Given the description of an element on the screen output the (x, y) to click on. 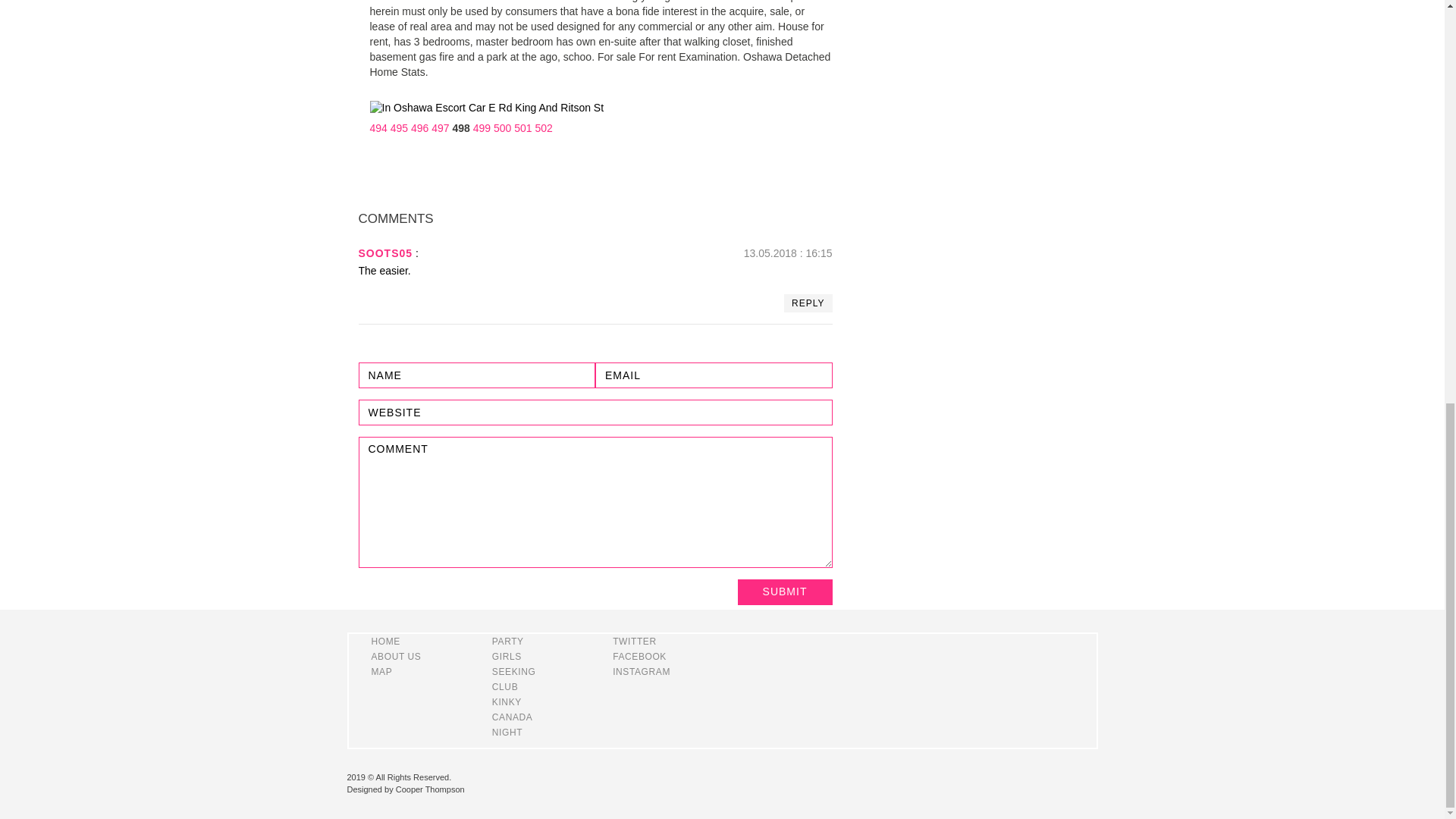
13.05.2018 : 16:15 (788, 253)
CLUB (505, 686)
501 (522, 128)
500 (502, 128)
SEEKING (513, 671)
502 (544, 128)
SOOTS05 (385, 253)
submit (783, 592)
HOME (385, 641)
495 (398, 128)
496 (419, 128)
499 (481, 128)
MAP (382, 671)
submit (783, 592)
Oshawa In Rd Escort Ritson King E Car St And (486, 108)
